Given the description of an element on the screen output the (x, y) to click on. 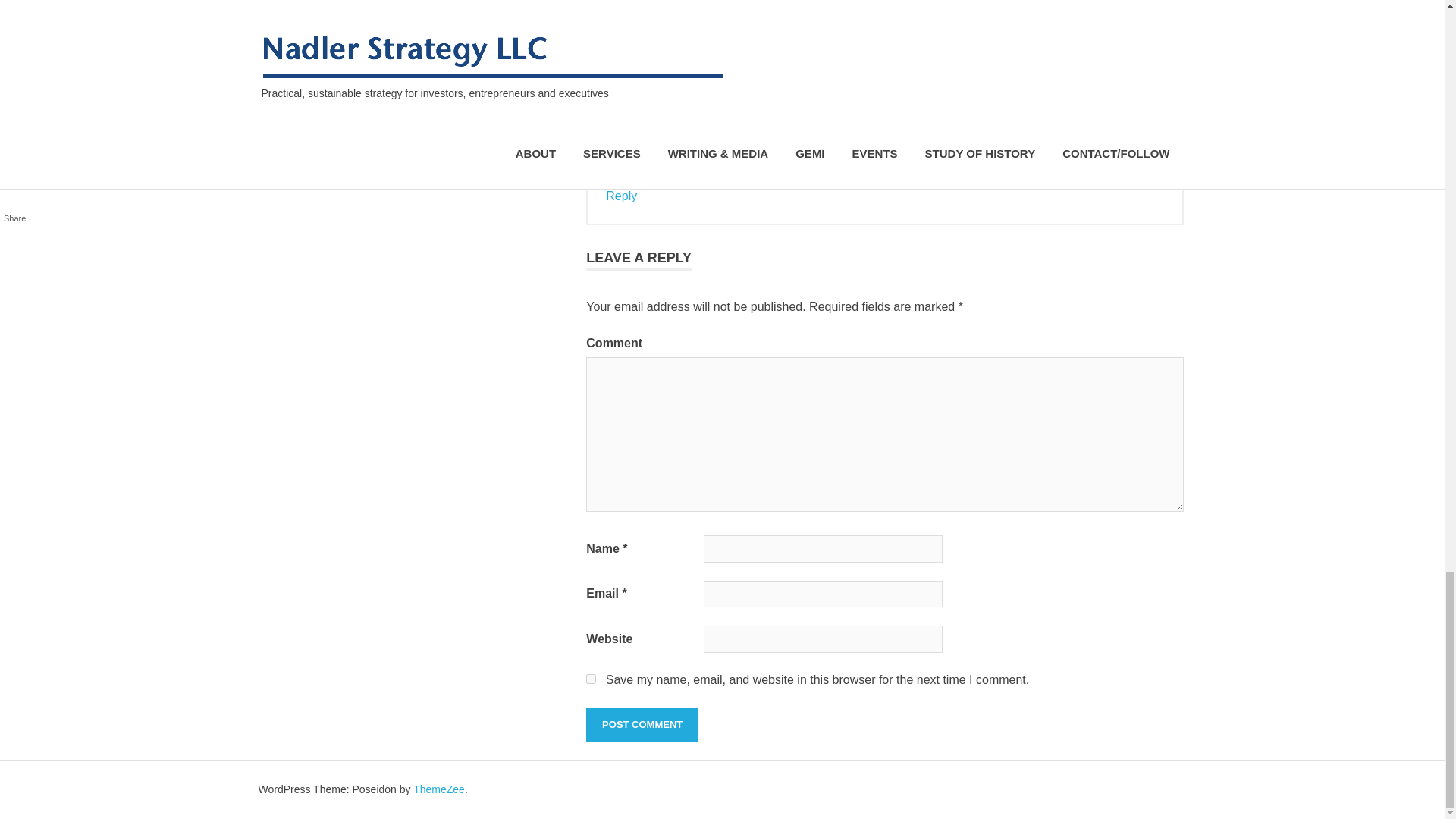
yes (590, 678)
April 3, 2013 at 6:49 pm (717, 86)
Post Comment (642, 724)
Post Comment (642, 724)
Reply (621, 195)
ThemeZee (438, 788)
